Given the description of an element on the screen output the (x, y) to click on. 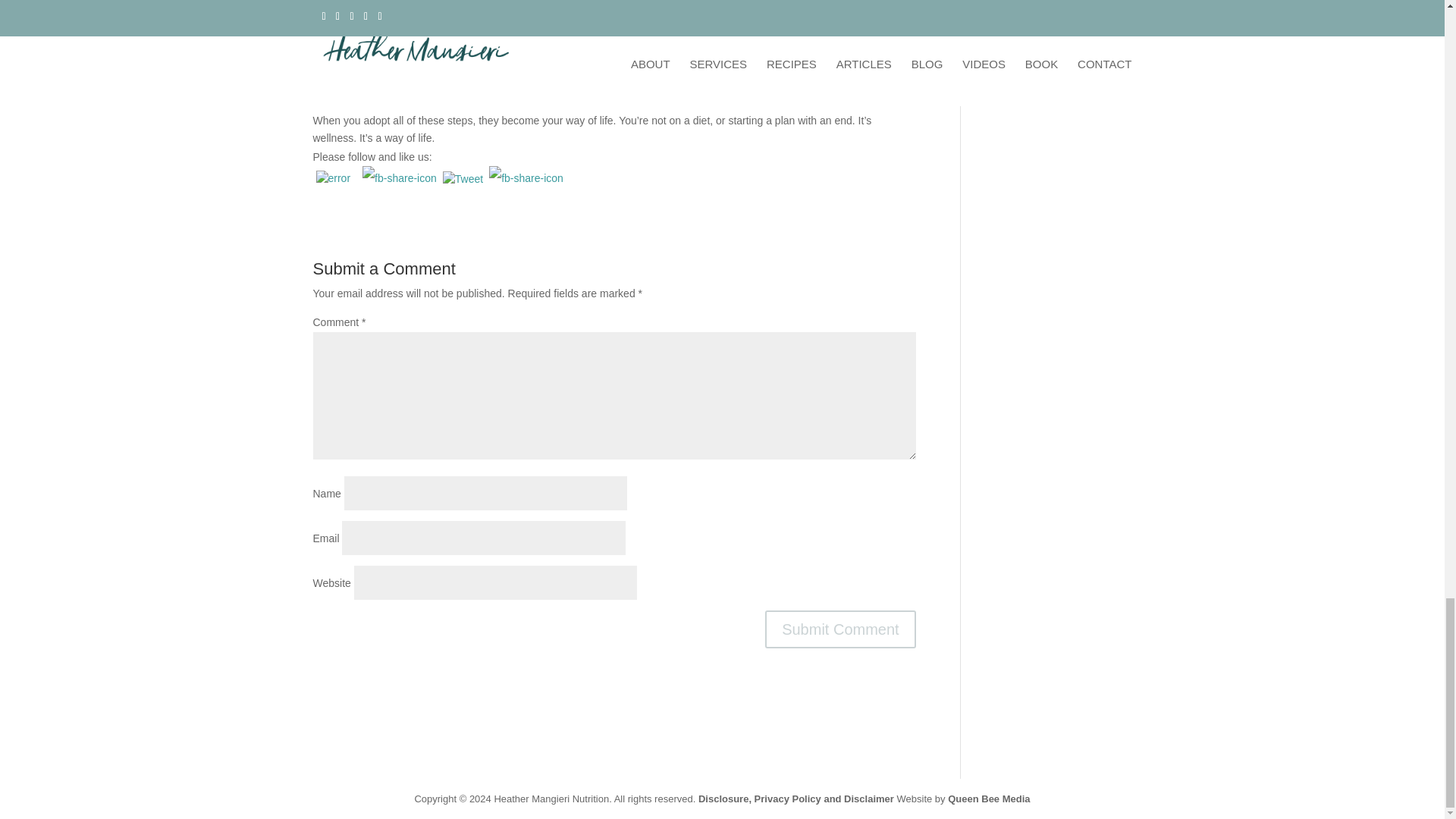
Submit Comment (840, 629)
Tweet (462, 178)
Facebook Share (399, 178)
Submit Comment (840, 629)
Pin Share (526, 178)
